Given the description of an element on the screen output the (x, y) to click on. 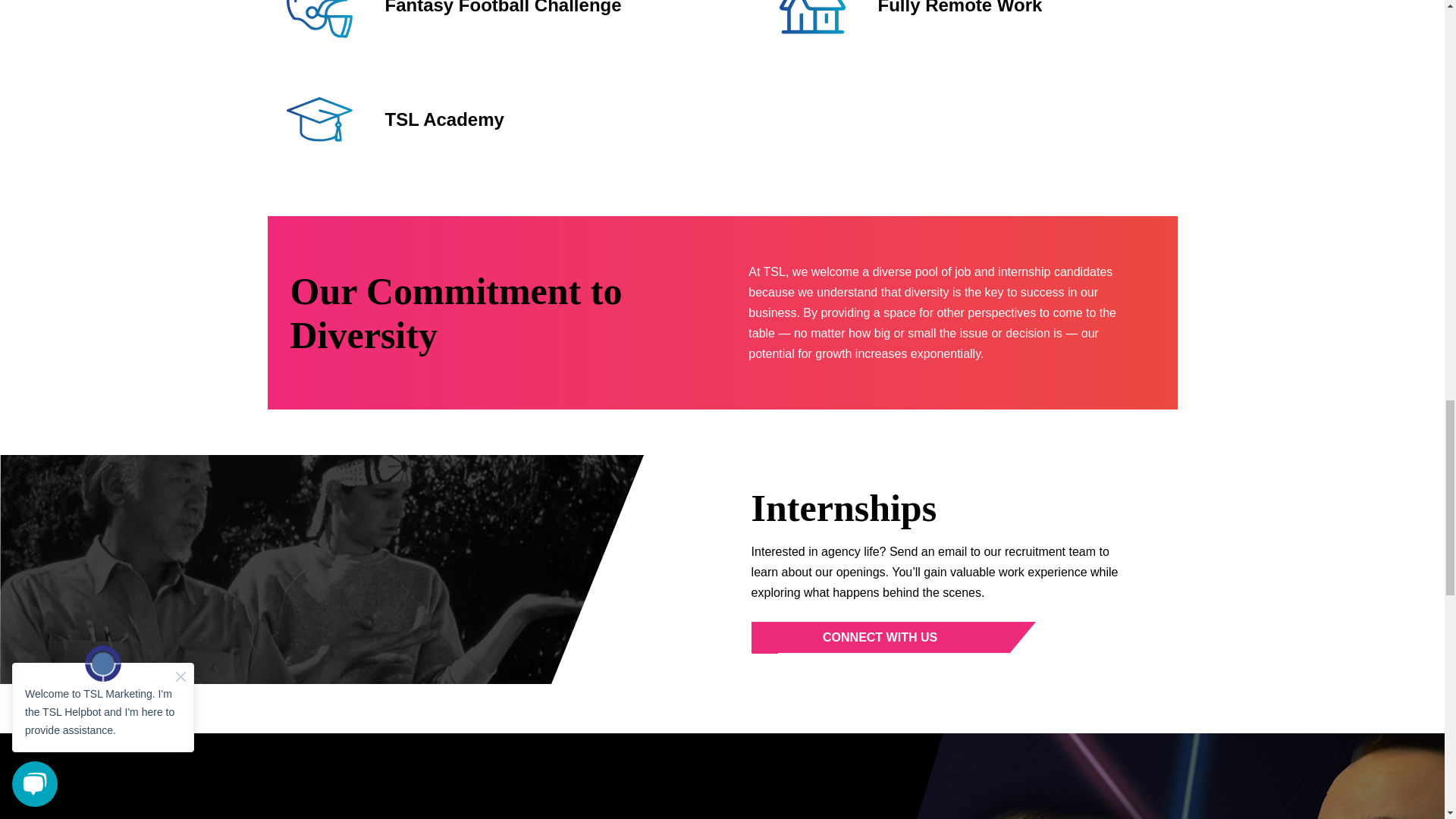
CONNECT WITH US (880, 636)
